Given the description of an element on the screen output the (x, y) to click on. 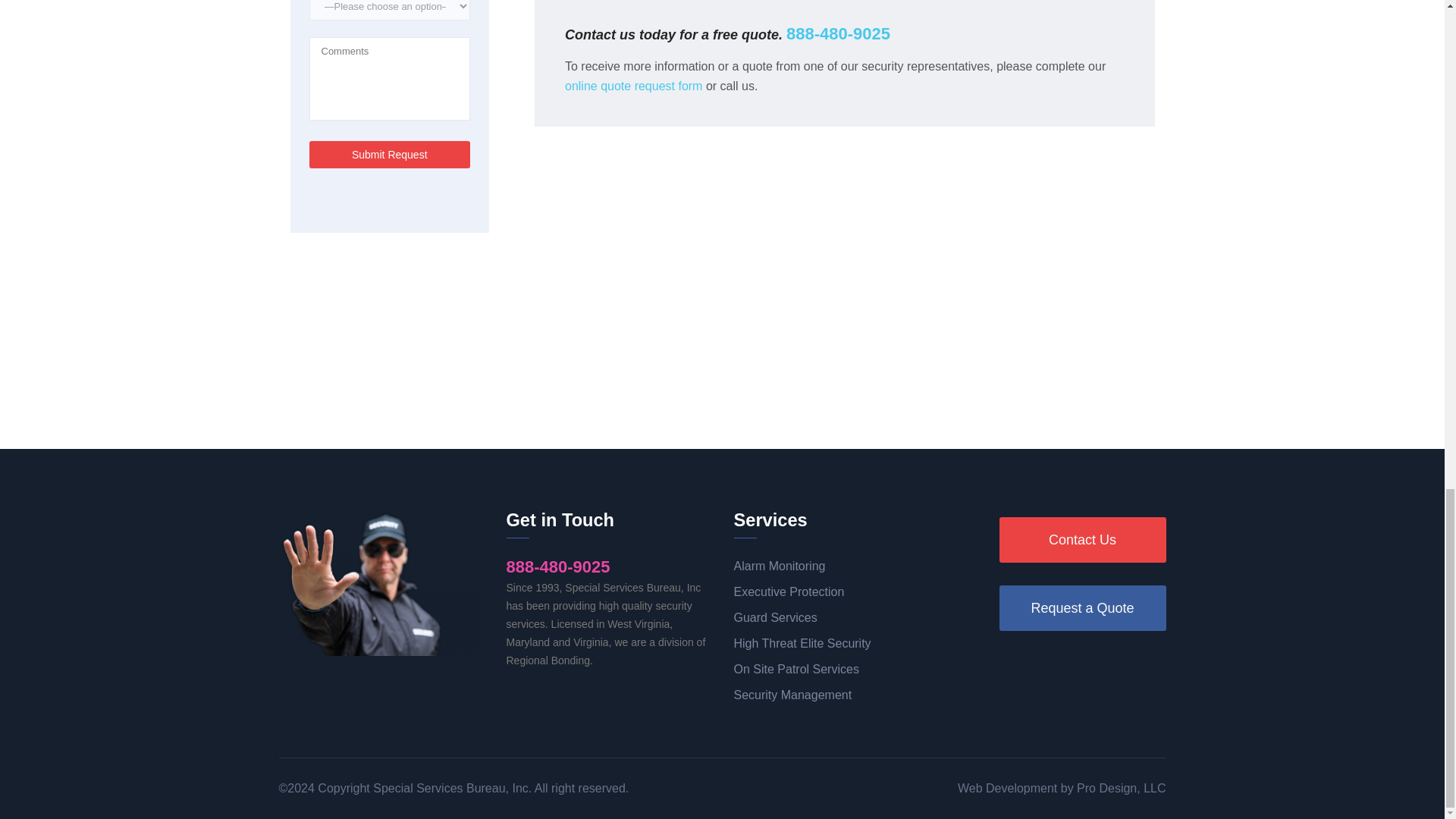
Submit Request (389, 154)
Submit Request (389, 154)
online quote request form (632, 85)
Alarm Monitoring (817, 566)
Executive Protection (817, 592)
888-480-9025 (837, 33)
